Given the description of an element on the screen output the (x, y) to click on. 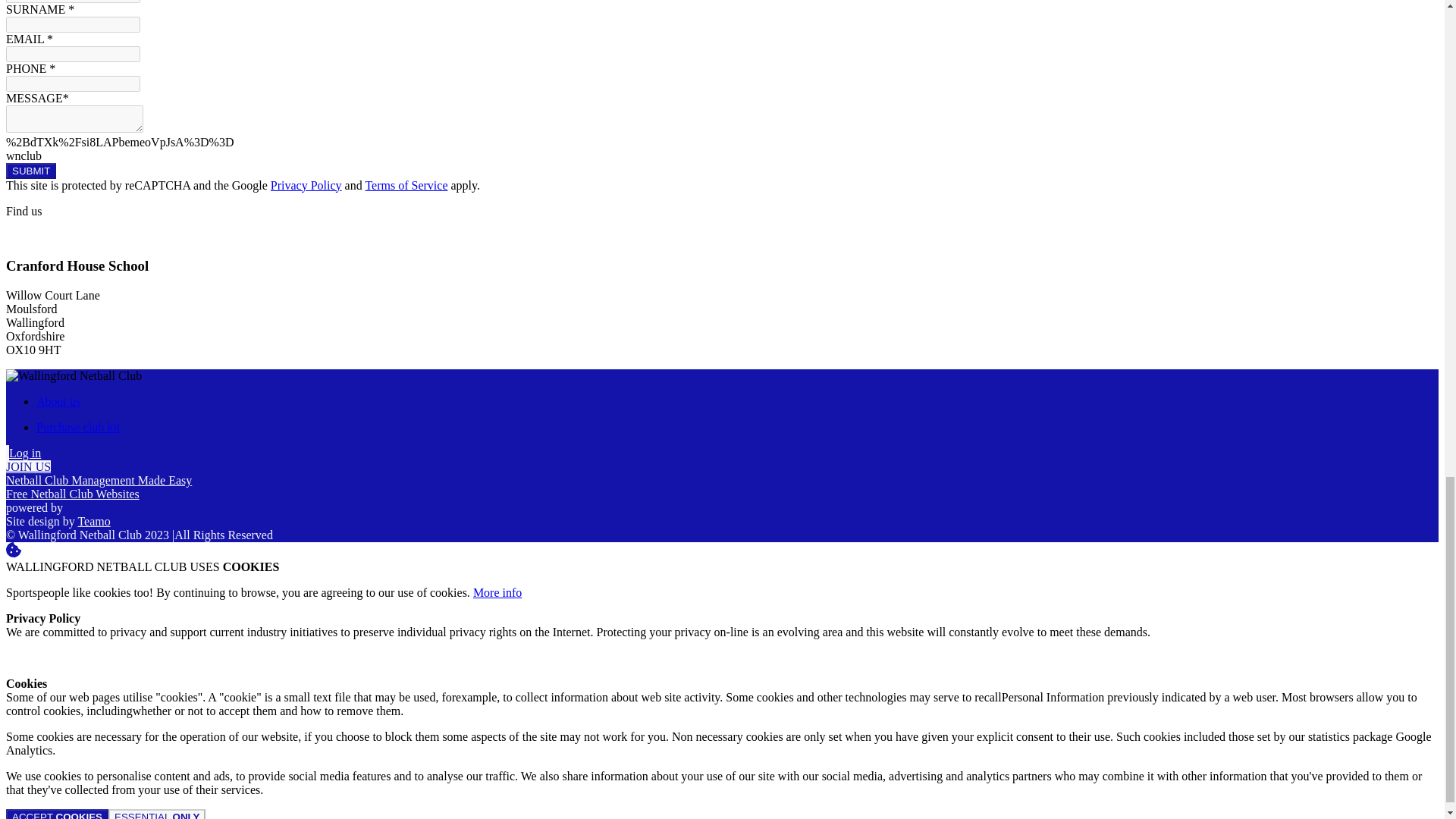
Privacy Policy (306, 185)
Free Netball Club Websites (72, 493)
About us (58, 400)
Terms of Service (405, 185)
Netball Club Management (98, 480)
SUBMIT (30, 170)
